Given the description of an element on the screen output the (x, y) to click on. 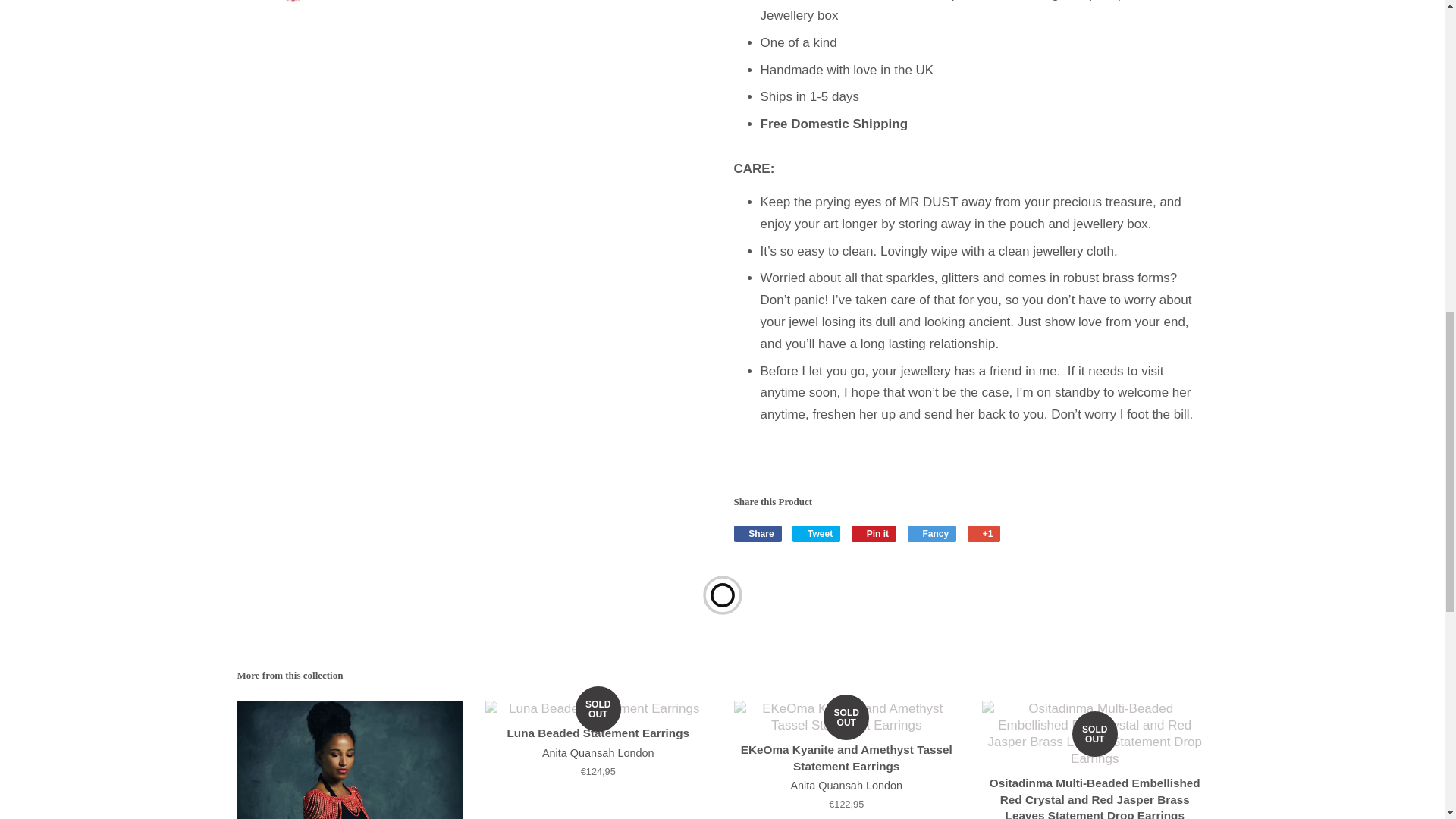
Tweet on Twitter (816, 533)
Add to Fancy (931, 533)
Pin on Pinterest (873, 533)
Share on Facebook (757, 533)
